Given the description of an element on the screen output the (x, y) to click on. 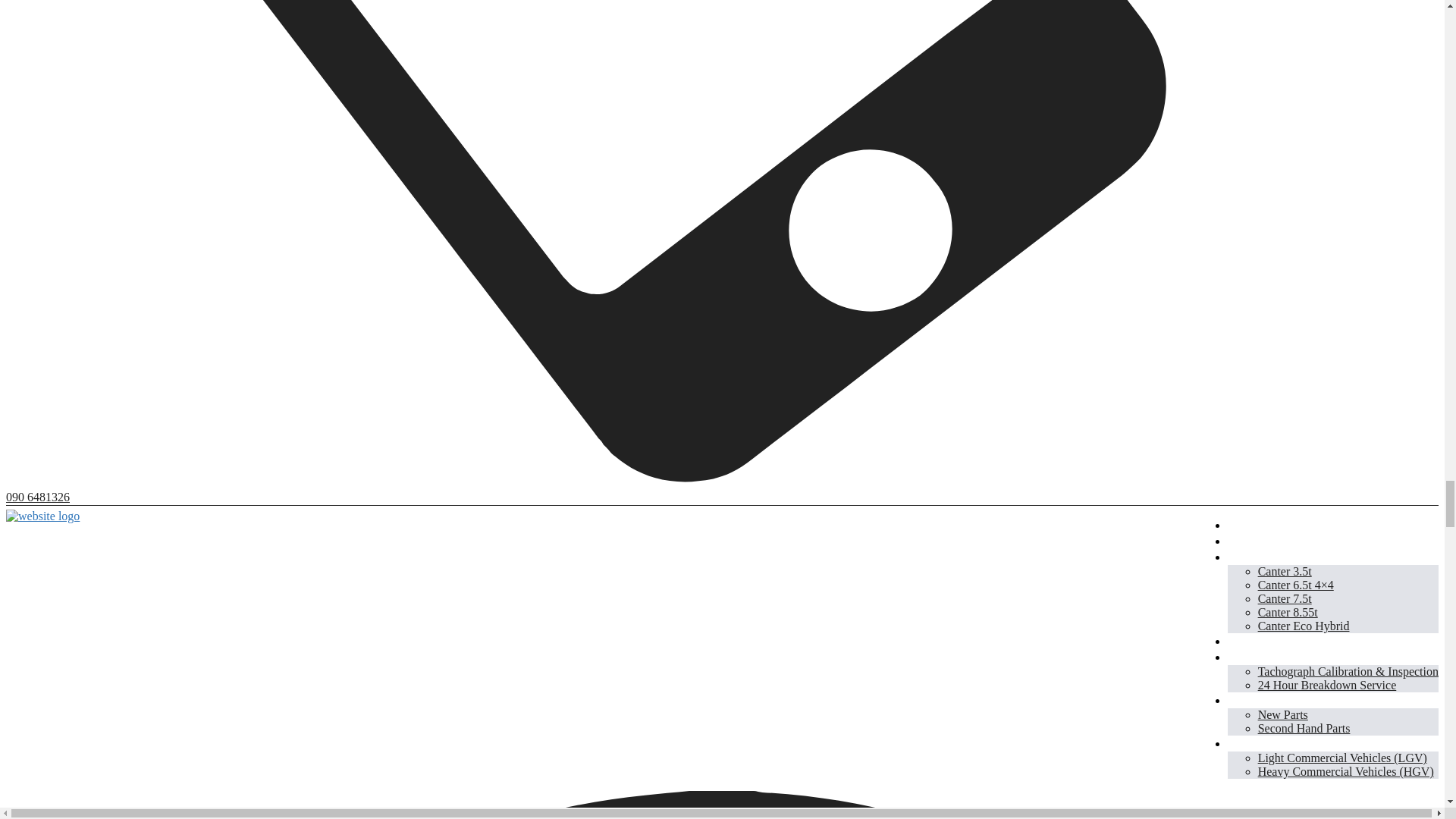
New Parts (1282, 714)
Canter 3.5t (1284, 571)
CVRT (1245, 743)
24 Hour Breakdown Service (1326, 684)
Second Hand Parts (1304, 727)
Mitsubishi Fuso (1271, 556)
Canter 7.5t (1284, 598)
Mercedes-Benz (1270, 540)
Canter 8.55t (1287, 612)
Home (1243, 524)
Used Vehicles (1265, 640)
Parts (1241, 699)
Canter Eco Hybrid (1303, 625)
Service (1247, 656)
090 6481326 (37, 496)
